Given the description of an element on the screen output the (x, y) to click on. 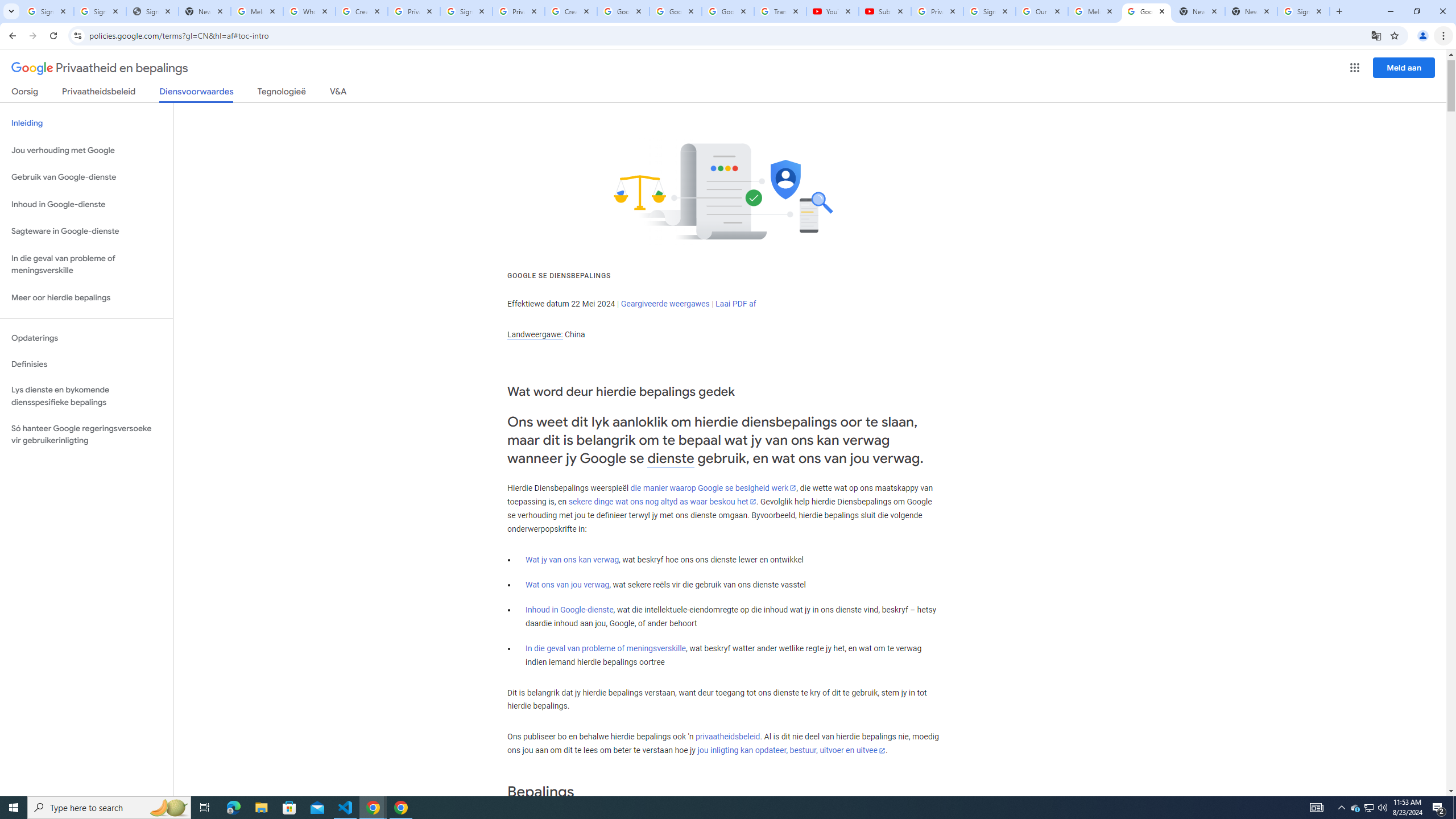
Greeting Line... (473, 92)
Filter (1433, 179)
First (721, 72)
Address Block... (430, 92)
Language Chinese (Simplified, Mainland China) (215, 773)
Undo Apply Quick Style Set (165, 18)
Sign in (1304, 18)
